Given the description of an element on the screen output the (x, y) to click on. 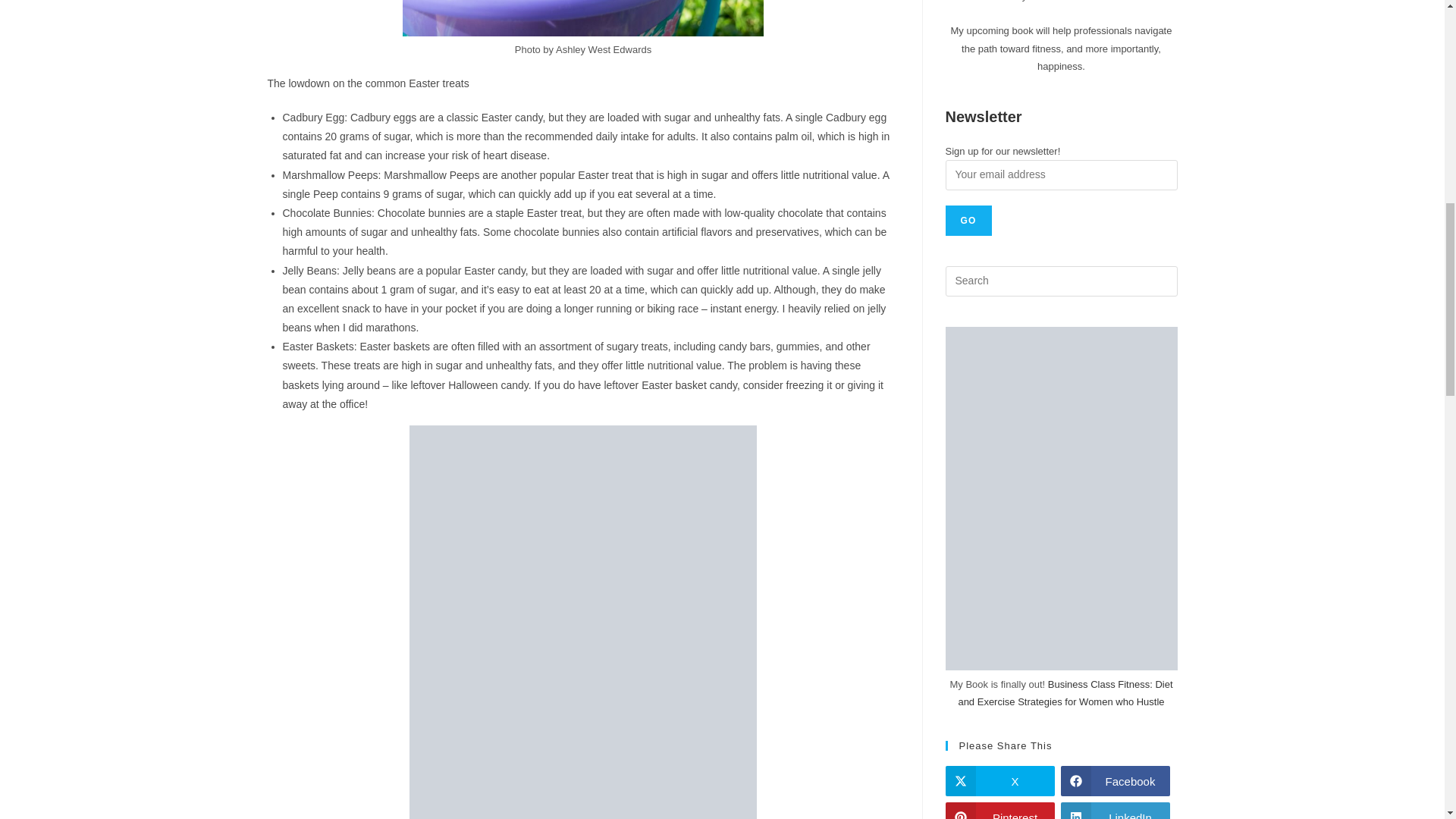
Share on Pinterest (999, 810)
Share on LinkedIn (1114, 810)
Go (967, 220)
Share on Facebook (1114, 780)
Share on X (999, 780)
